Given the description of an element on the screen output the (x, y) to click on. 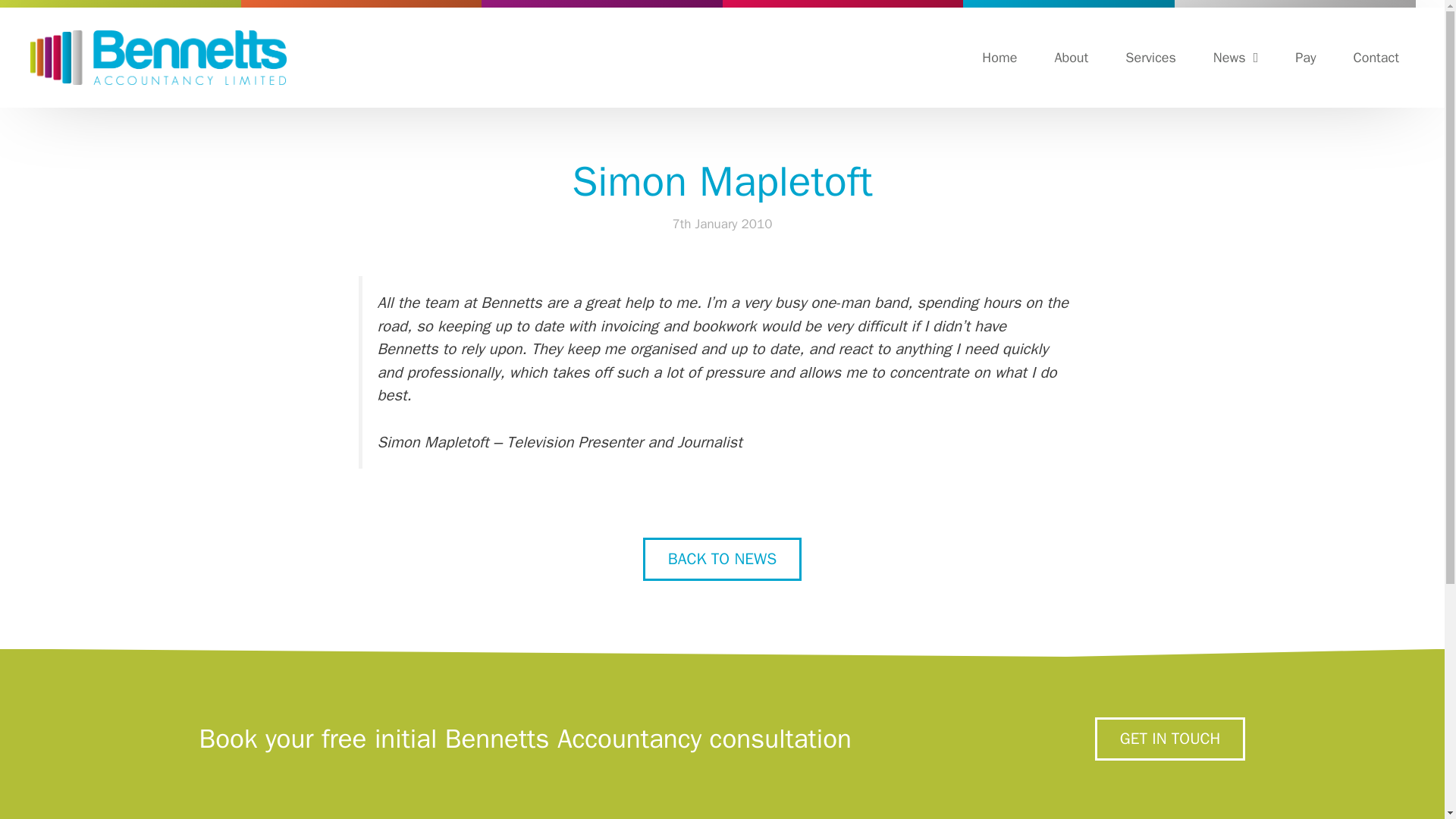
GET IN TOUCH (1214, 738)
About (1071, 57)
Contact (1375, 57)
Pay (1304, 57)
BACK TO NEWS (722, 558)
Services (1150, 57)
News (1235, 57)
Home (999, 57)
